Given the description of an element on the screen output the (x, y) to click on. 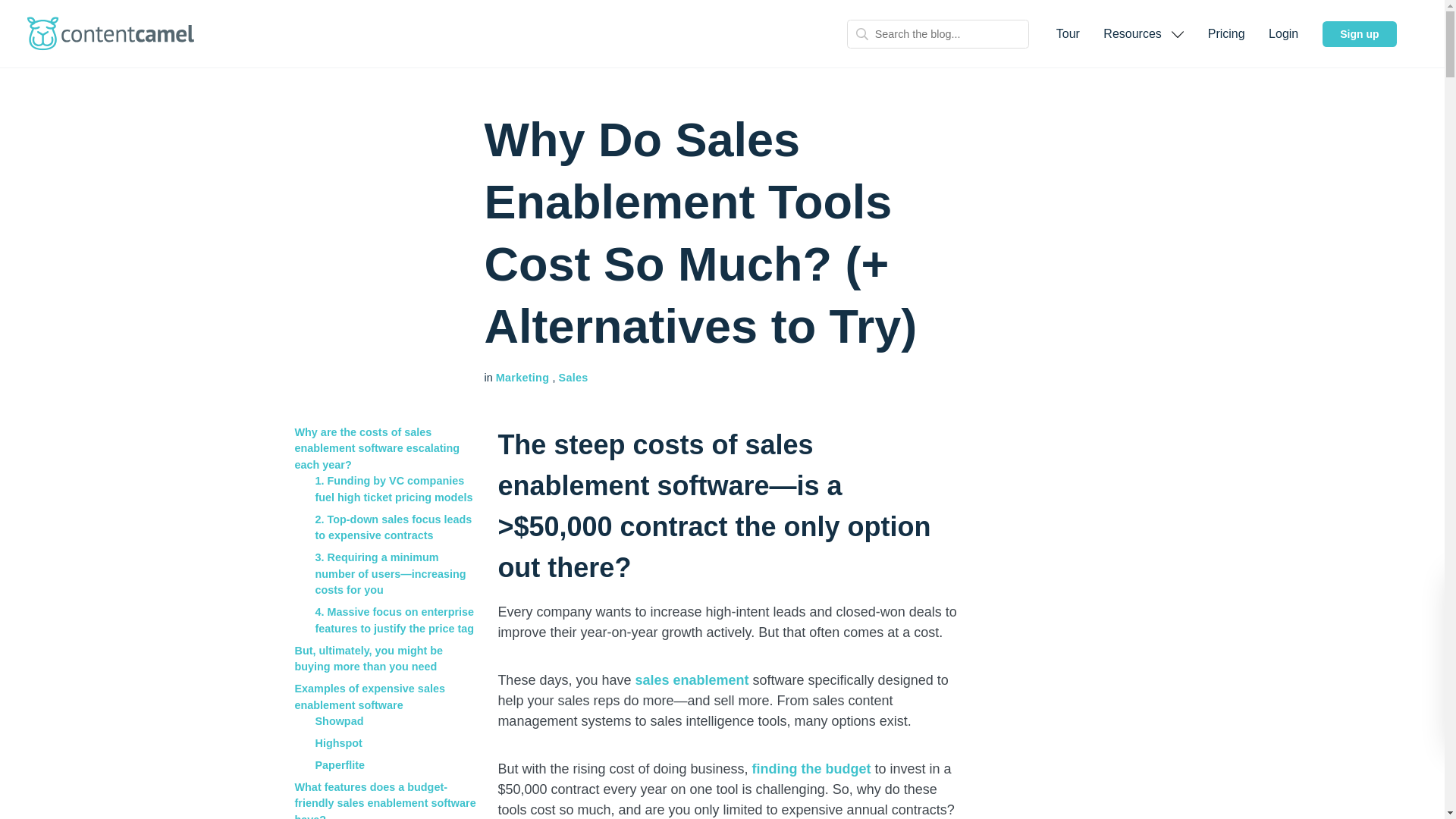
Sales (573, 377)
But, ultimately, you might be buying more than you need (368, 658)
Paperflite (340, 765)
2. Top-down sales focus leads to expensive contracts (393, 527)
1. Funding by VC companies fuel high ticket pricing models (394, 489)
Go to homepage (110, 33)
Highspot (338, 743)
Resources (1143, 33)
